Given the description of an element on the screen output the (x, y) to click on. 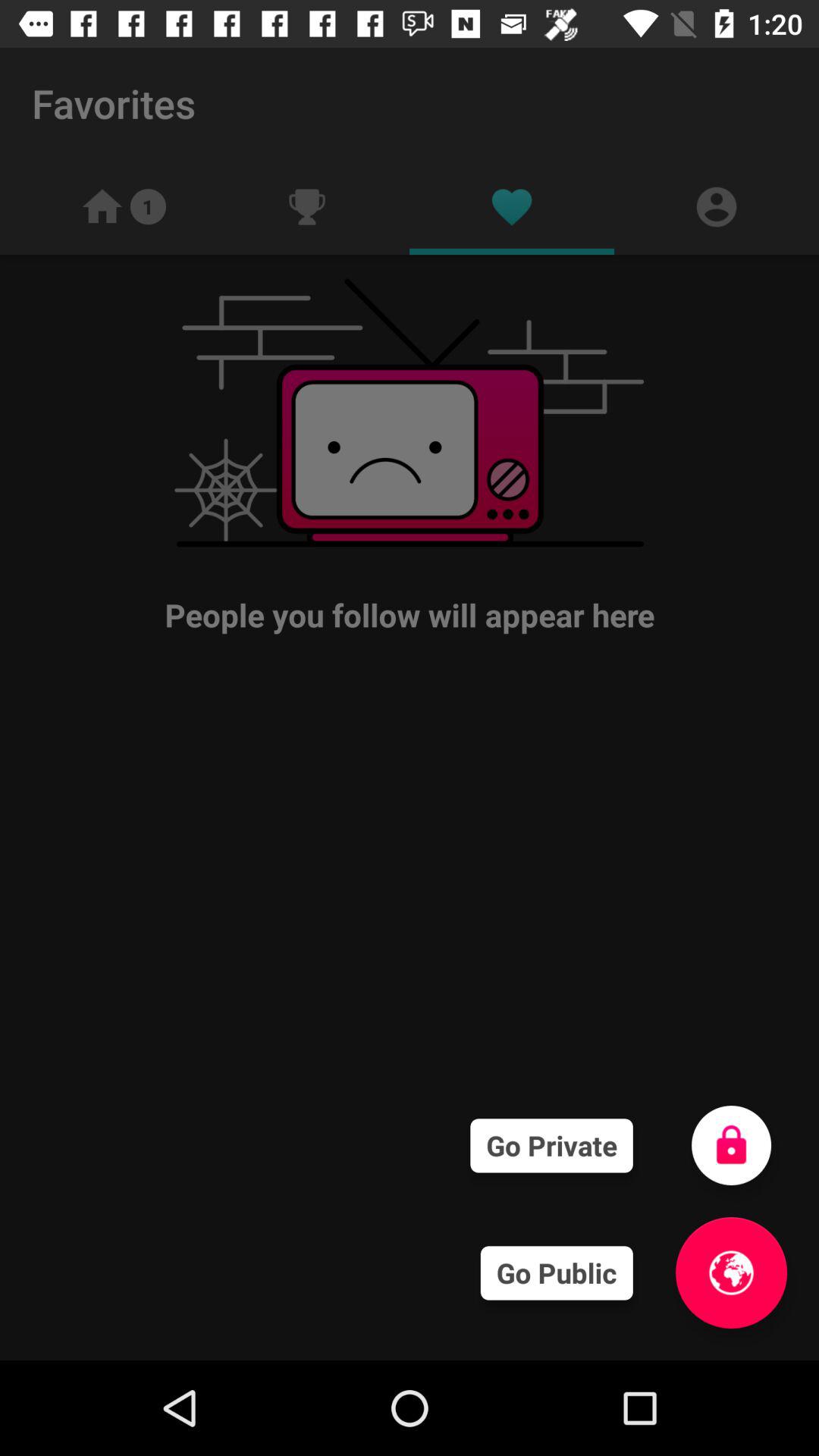
flip until the people you follow item (409, 455)
